Given the description of an element on the screen output the (x, y) to click on. 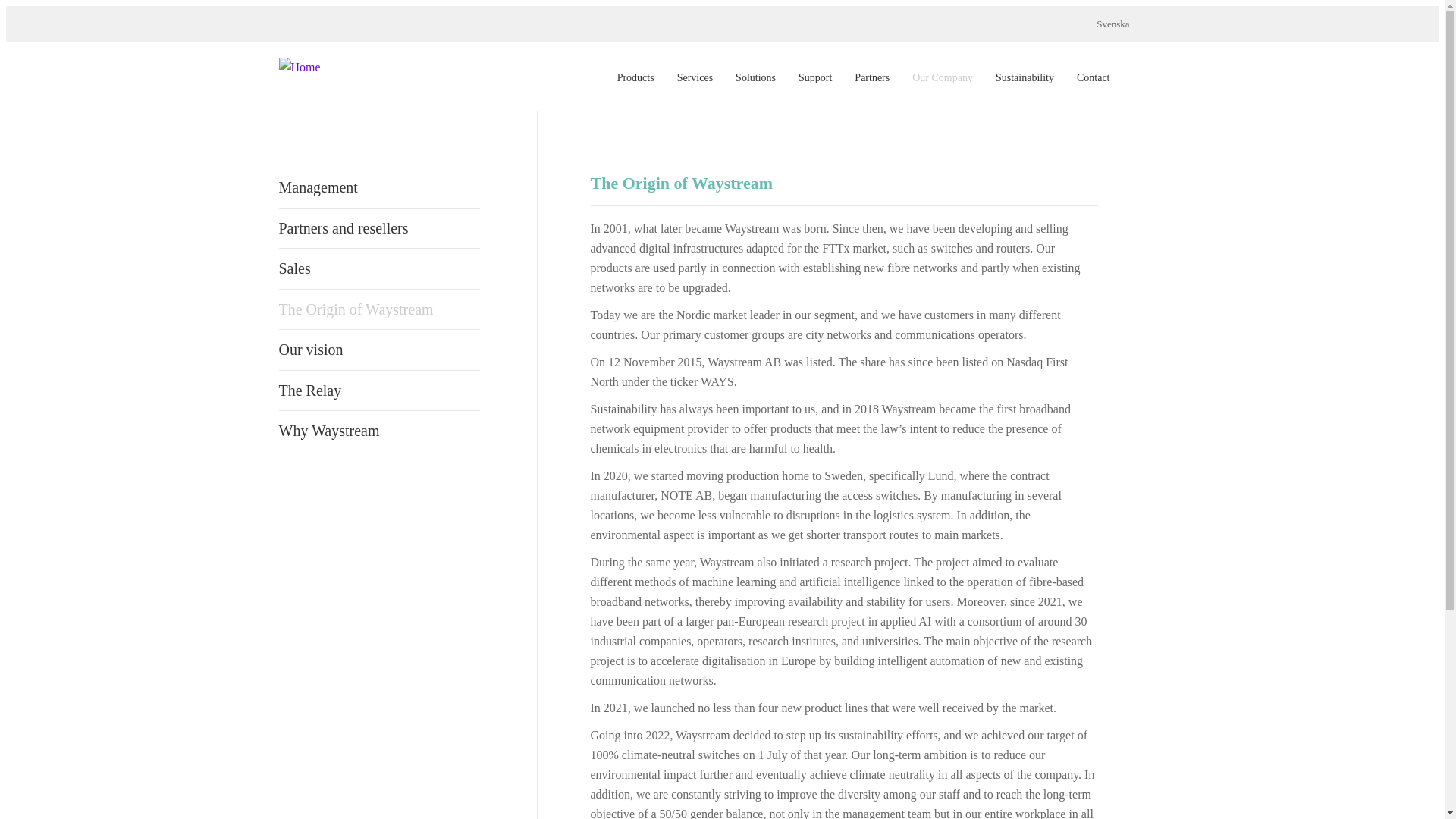
Management (371, 187)
Our vision (371, 349)
Support (815, 76)
Our Company (942, 76)
Facebook (1158, 76)
LinkedIn (1138, 76)
Contact (1093, 76)
Management (371, 187)
Services (694, 76)
Our Company (942, 76)
